Given the description of an element on the screen output the (x, y) to click on. 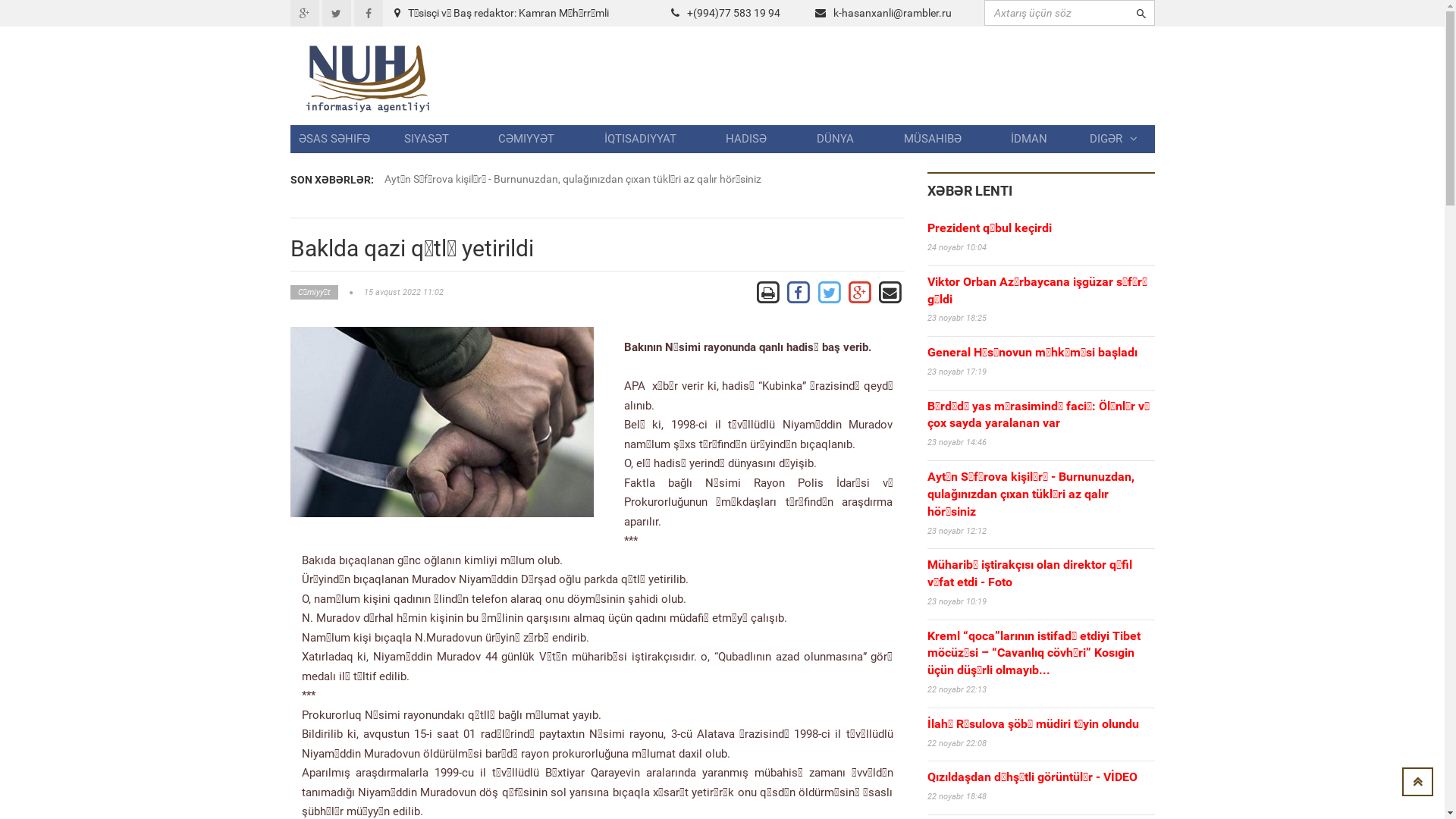
k-hasanxanli@rambler.ru Element type: text (891, 12)
